Given the description of an element on the screen output the (x, y) to click on. 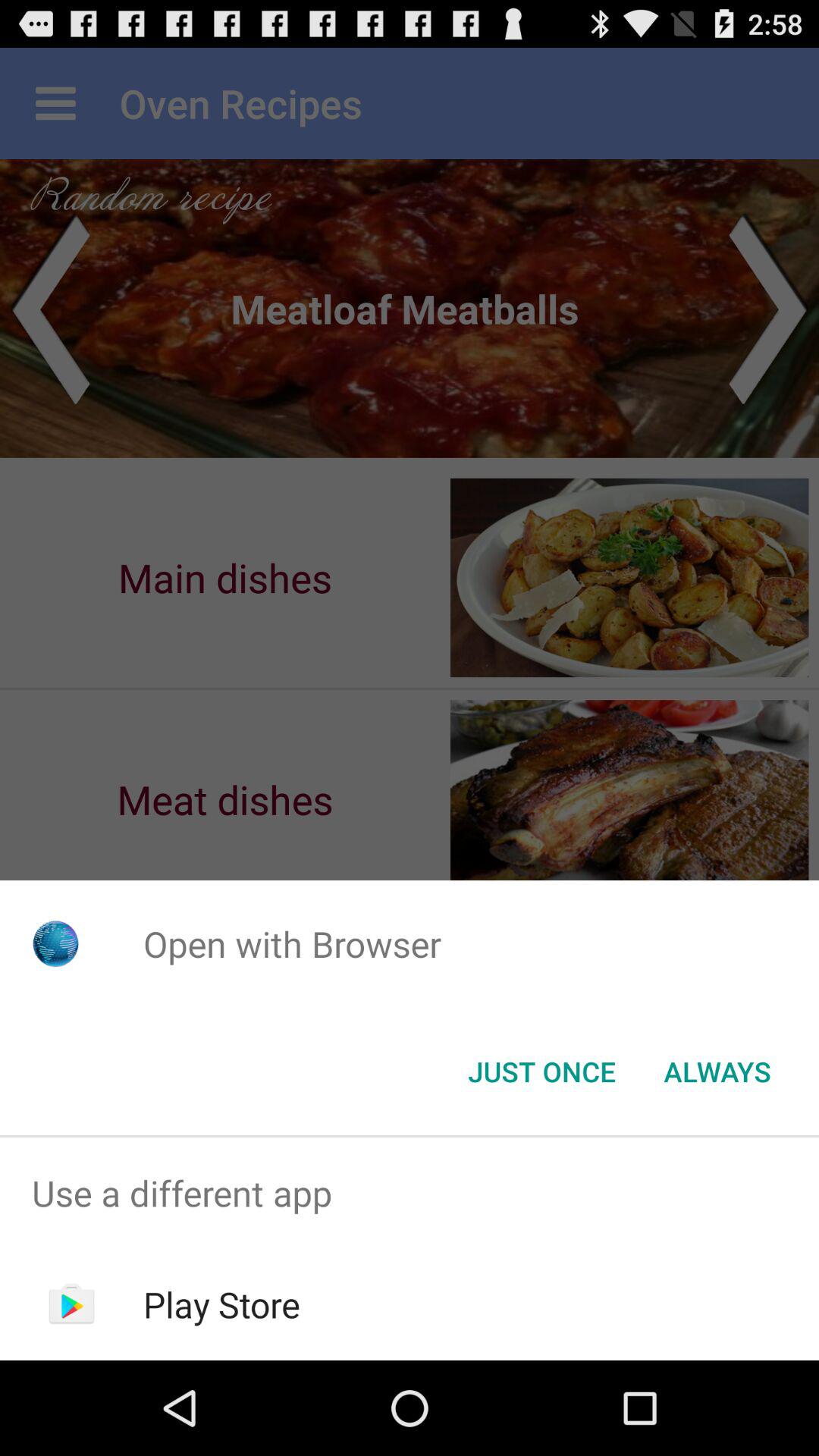
press the button to the right of the just once button (717, 1071)
